Given the description of an element on the screen output the (x, y) to click on. 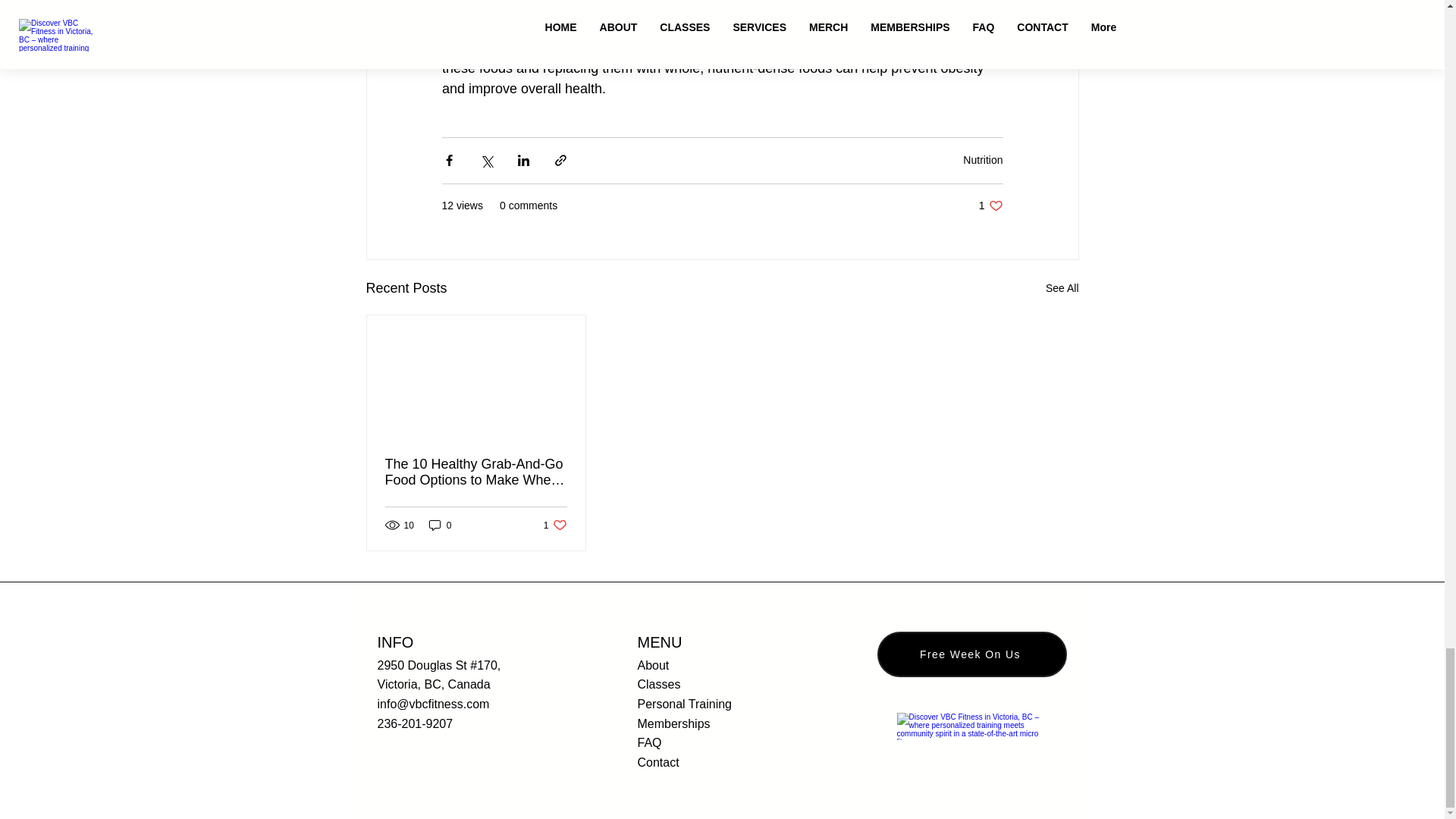
VBC-horizontal-long.png (971, 726)
Nutrition (982, 159)
About (652, 665)
Personal Training (684, 703)
0 (440, 524)
Classes (658, 684)
See All (1061, 288)
Memberships (555, 524)
